Given the description of an element on the screen output the (x, y) to click on. 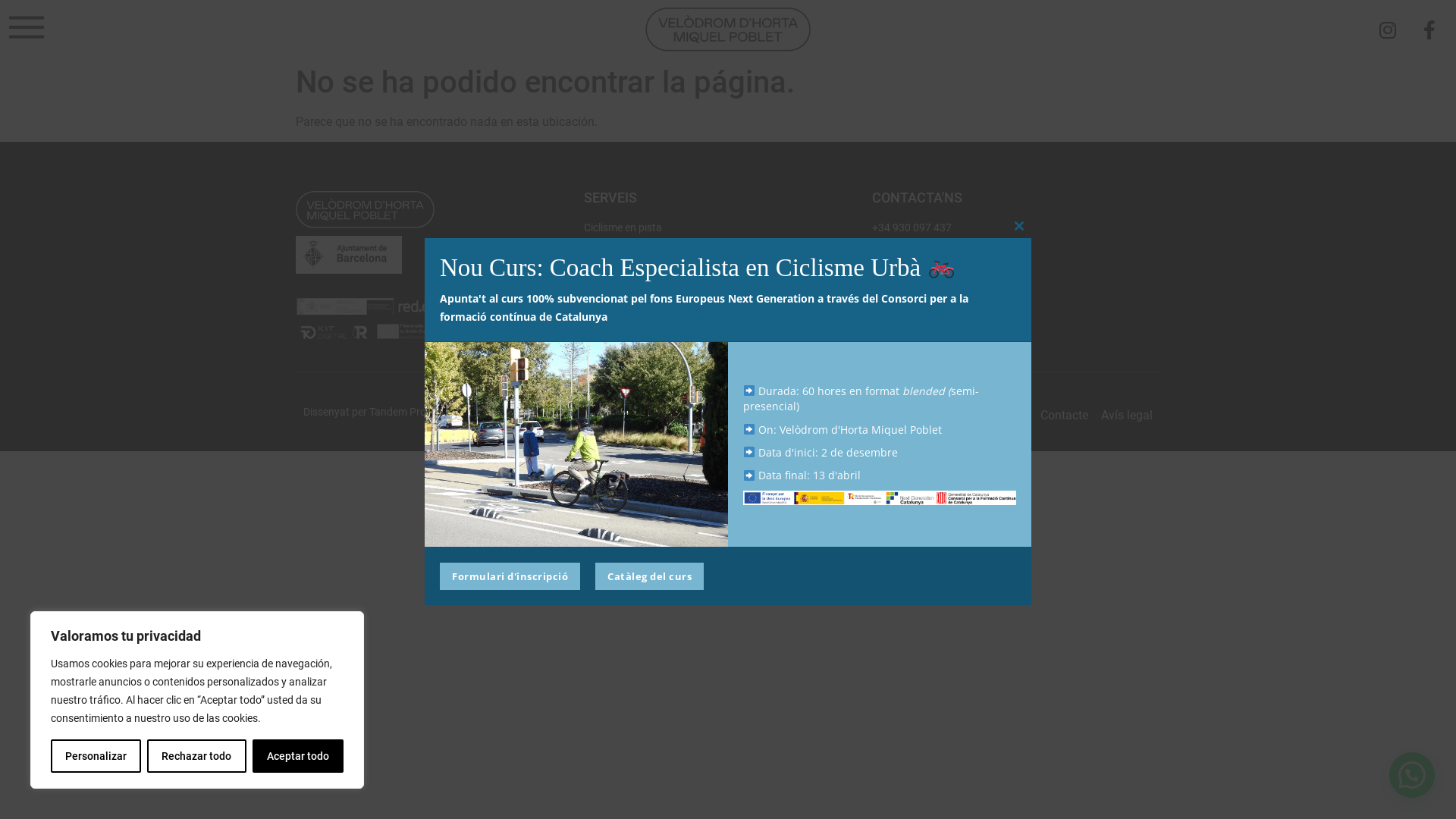
Trial Element type: text (727, 261)
BTT Element type: text (727, 277)
Futbol Element type: text (727, 294)
Ciclisme en pista Element type: text (727, 227)
+34 930 097 437 Element type: text (1016, 227)
BMX Element type: text (727, 244)
Dissenyat per Tandem Projects Element type: text (375, 411)
Pilates Element type: text (727, 327)
Close this module Element type: text (1019, 225)
Contacte Element type: text (1064, 415)
info@velodrom.cat Element type: text (1016, 247)
Rechazar todo Element type: text (196, 755)
Personalizar Element type: text (95, 755)
Aceptar todo Element type: text (297, 755)
